Given the description of an element on the screen output the (x, y) to click on. 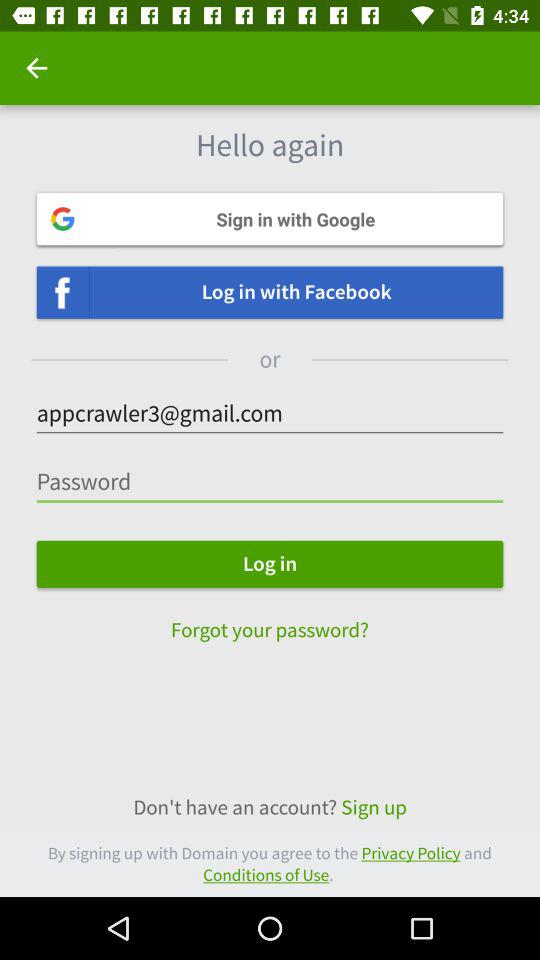
open item below don t have item (270, 864)
